Given the description of an element on the screen output the (x, y) to click on. 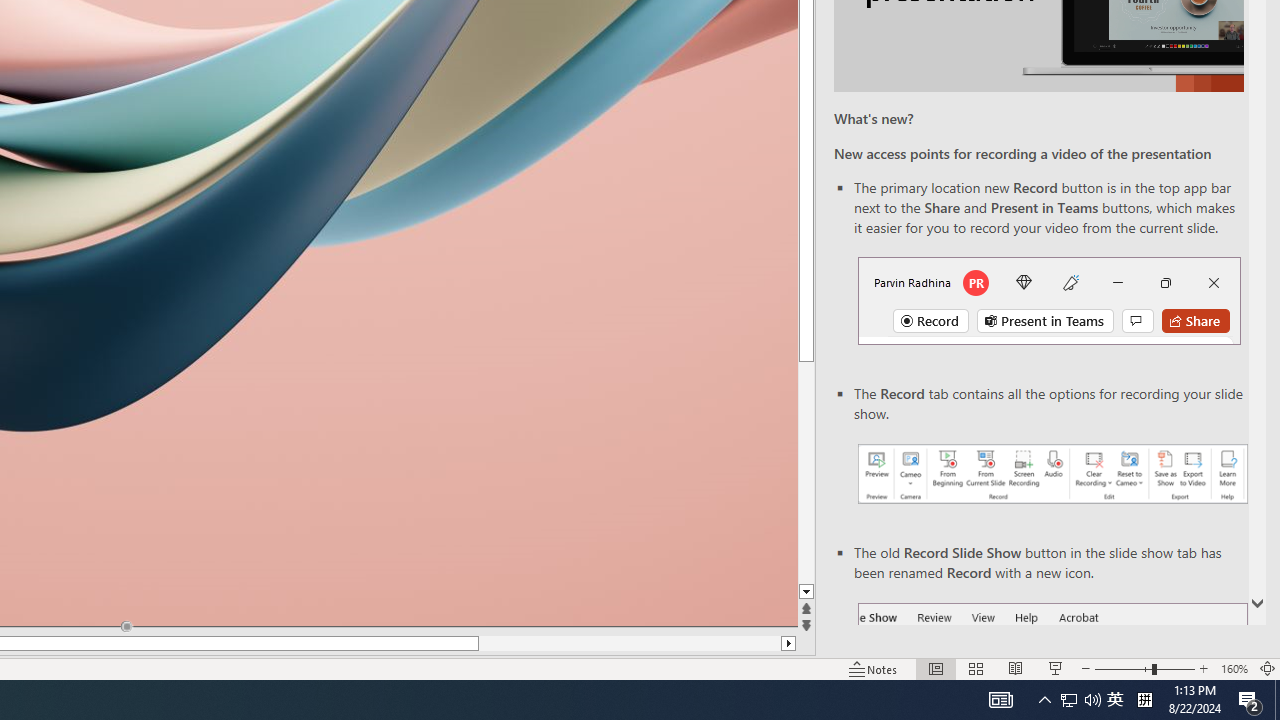
Record your presentations screenshot one (1052, 473)
Record button in top bar (1049, 300)
Zoom 160% (1234, 668)
